Given the description of an element on the screen output the (x, y) to click on. 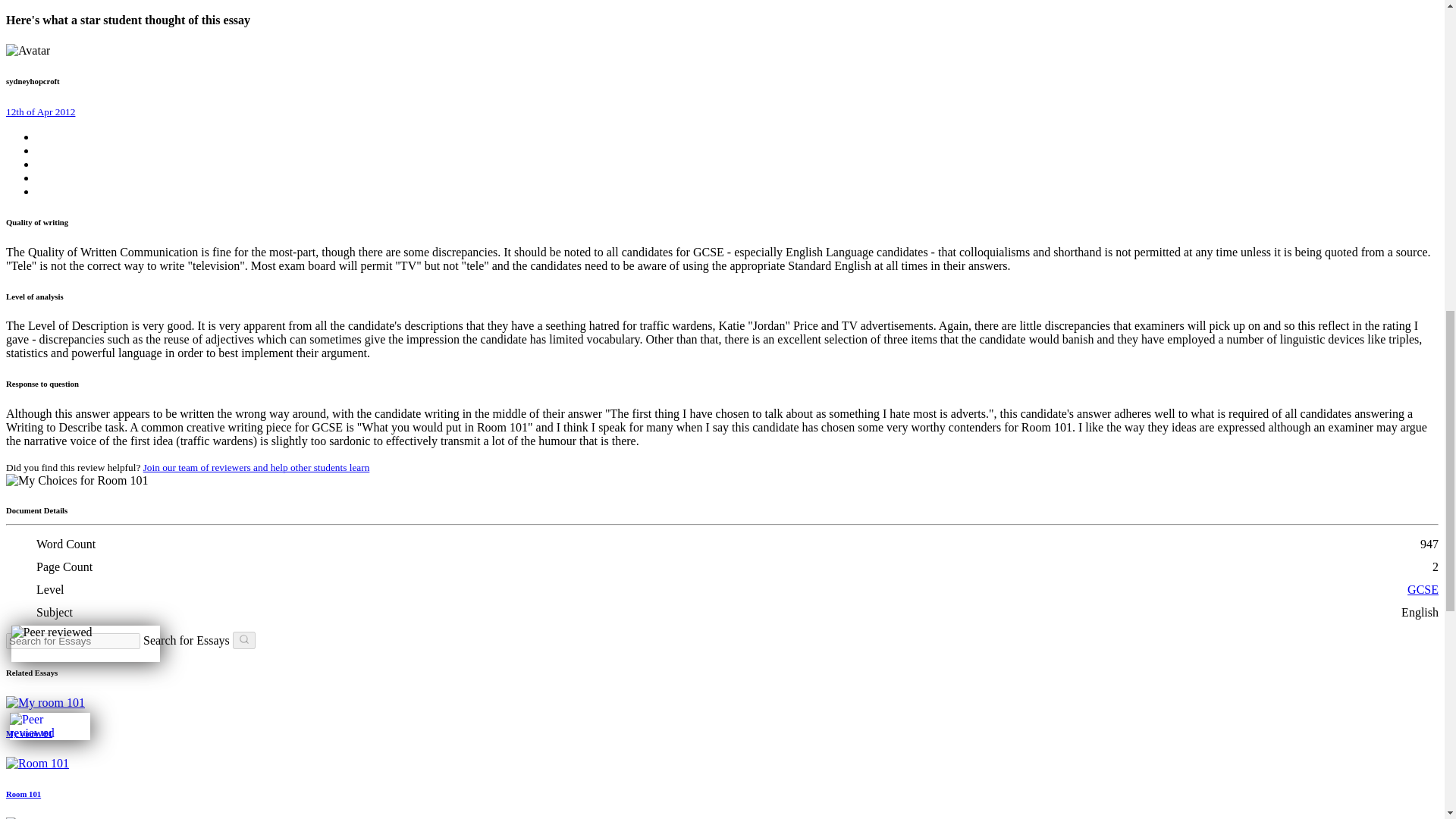
Quick search (244, 640)
12th of Apr 2012 (40, 110)
Join our team of reviewers and help other students learn (255, 467)
